Given the description of an element on the screen output the (x, y) to click on. 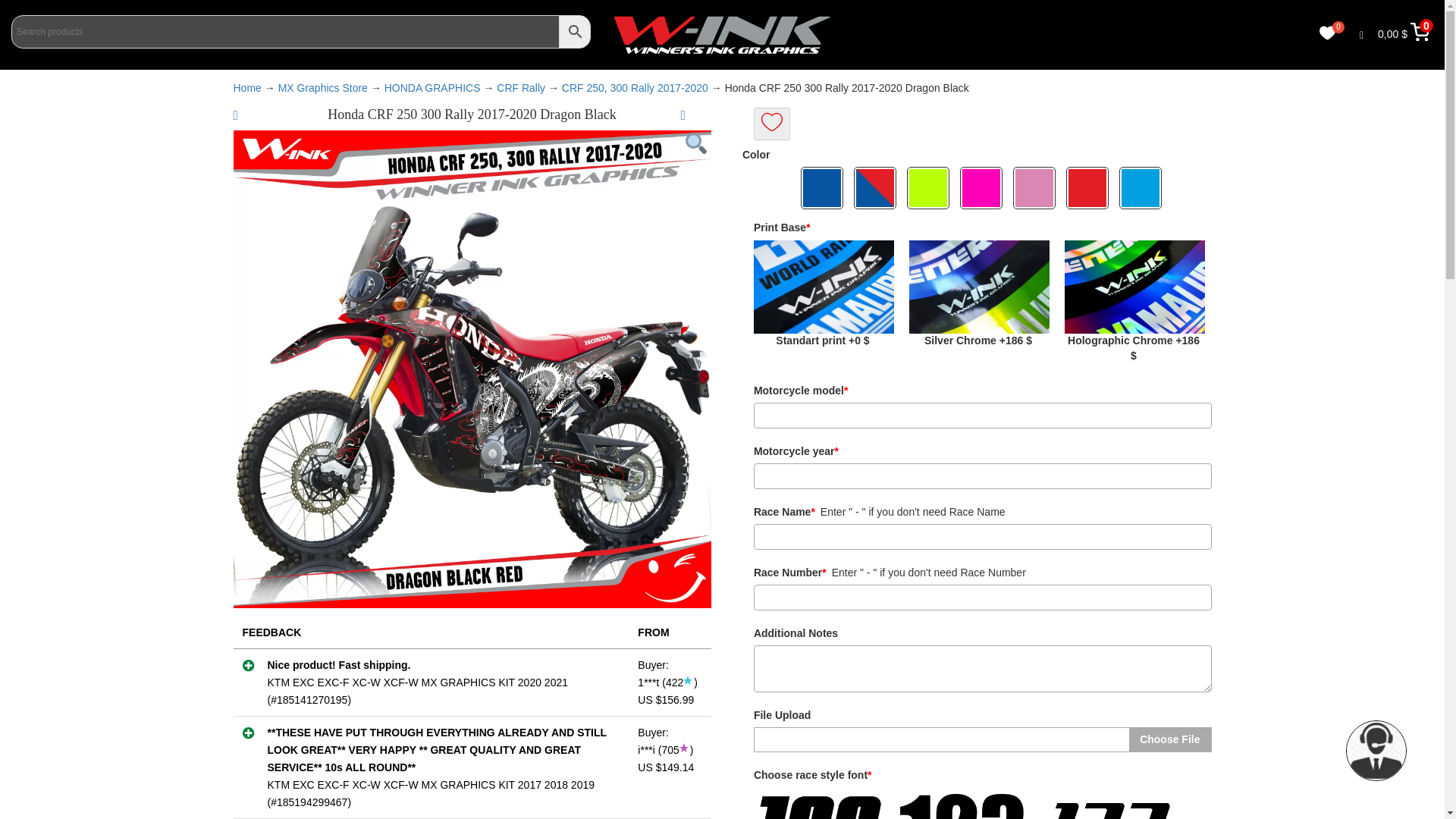
CRF 250, 300 Rally 2017-2020 (634, 87)
Lime (929, 188)
Magenta (982, 188)
HONDA GRAPHICS (432, 87)
Home (247, 87)
Home (247, 87)
MX Graphics Store (323, 87)
CRF 250, 300 Rally 2017-2020 (634, 87)
Blue-Red (876, 188)
Sky (1141, 188)
CRF Rally (520, 87)
Pink (1035, 188)
Red (1088, 188)
CRF Rally (520, 87)
